Given the description of an element on the screen output the (x, y) to click on. 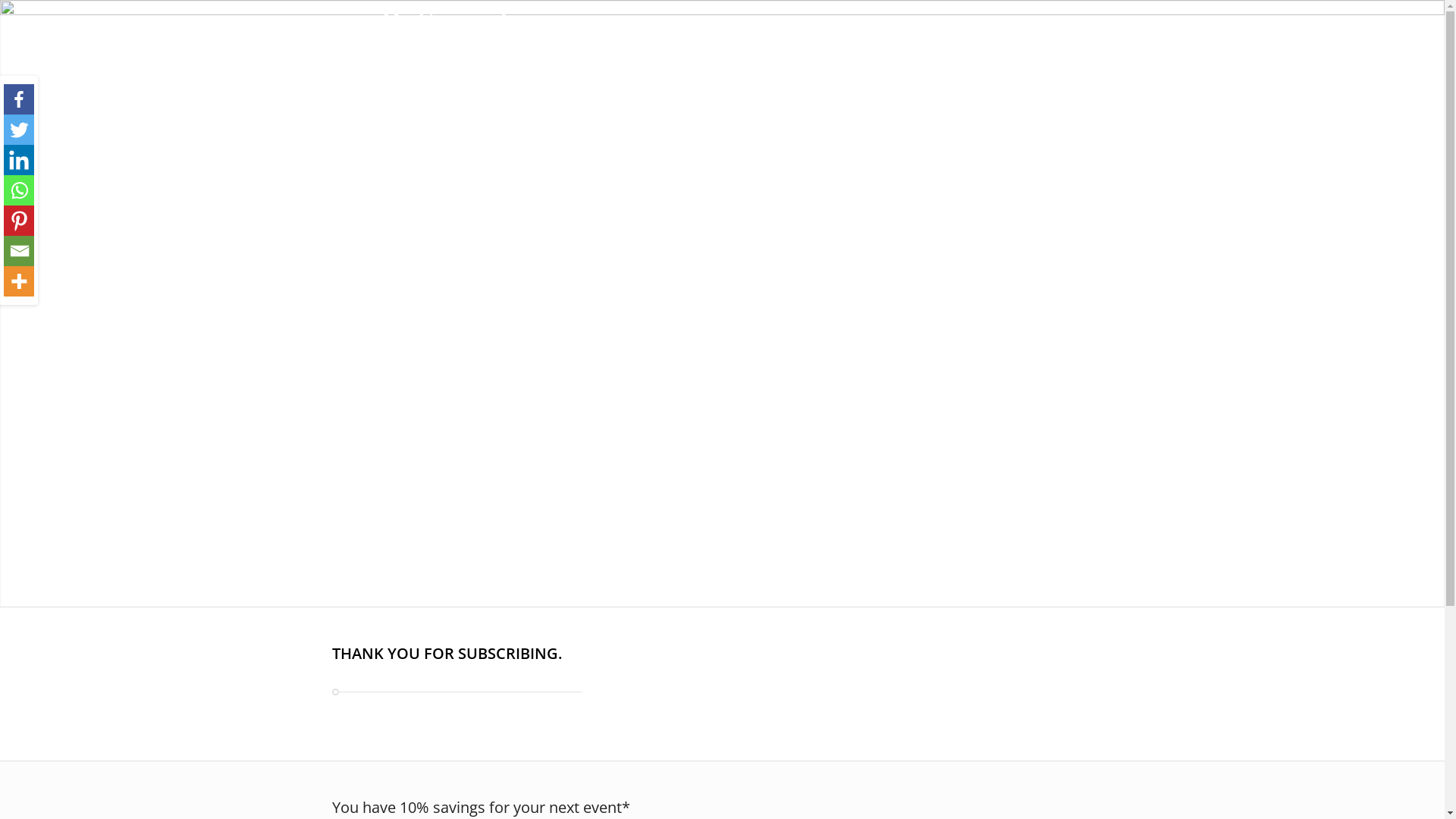
Email Element type: hover (16, 250)
SERVICES Element type: text (724, 28)
ABOUT US Element type: text (657, 28)
Linkedin Element type: hover (16, 159)
Twitter Element type: hover (16, 129)
NEWS Element type: text (995, 28)
logo_white Element type: hover (440, 28)
MEMBERSHIP Element type: text (930, 28)
OUR PROCESS Element type: text (845, 28)
Pinterest Element type: hover (16, 220)
Facebook Element type: hover (16, 99)
Whatsapp Element type: hover (16, 190)
privacy_1800 Element type: hover (722, 303)
CONTACT Element type: text (1051, 28)
More Element type: hover (16, 281)
WORK Element type: text (779, 28)
